Given the description of an element on the screen output the (x, y) to click on. 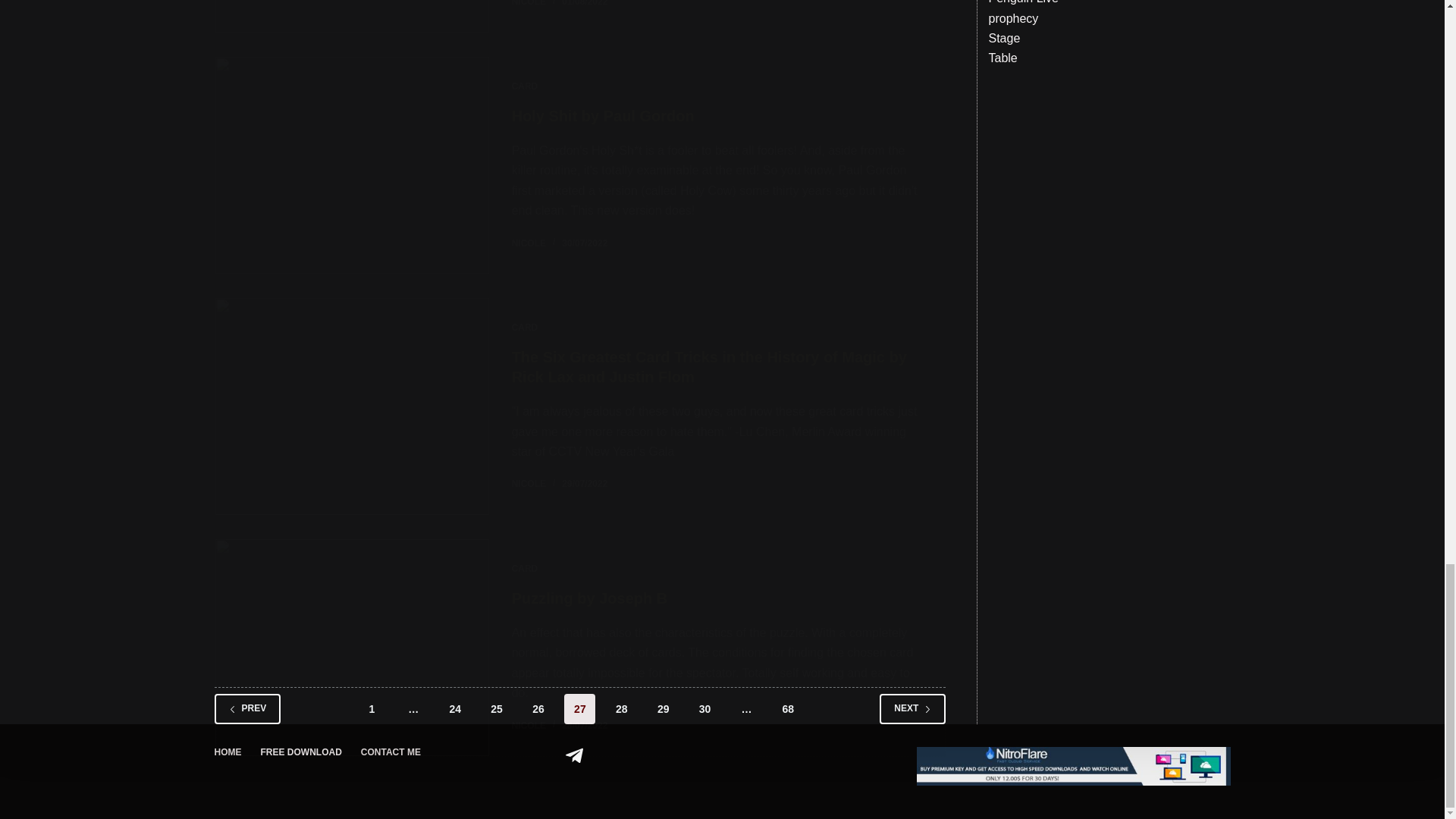
Posts by Nicole (529, 243)
Posts by Nicole (529, 3)
Posts by Nicole (529, 483)
Posts by Nicole (529, 725)
